Given the description of an element on the screen output the (x, y) to click on. 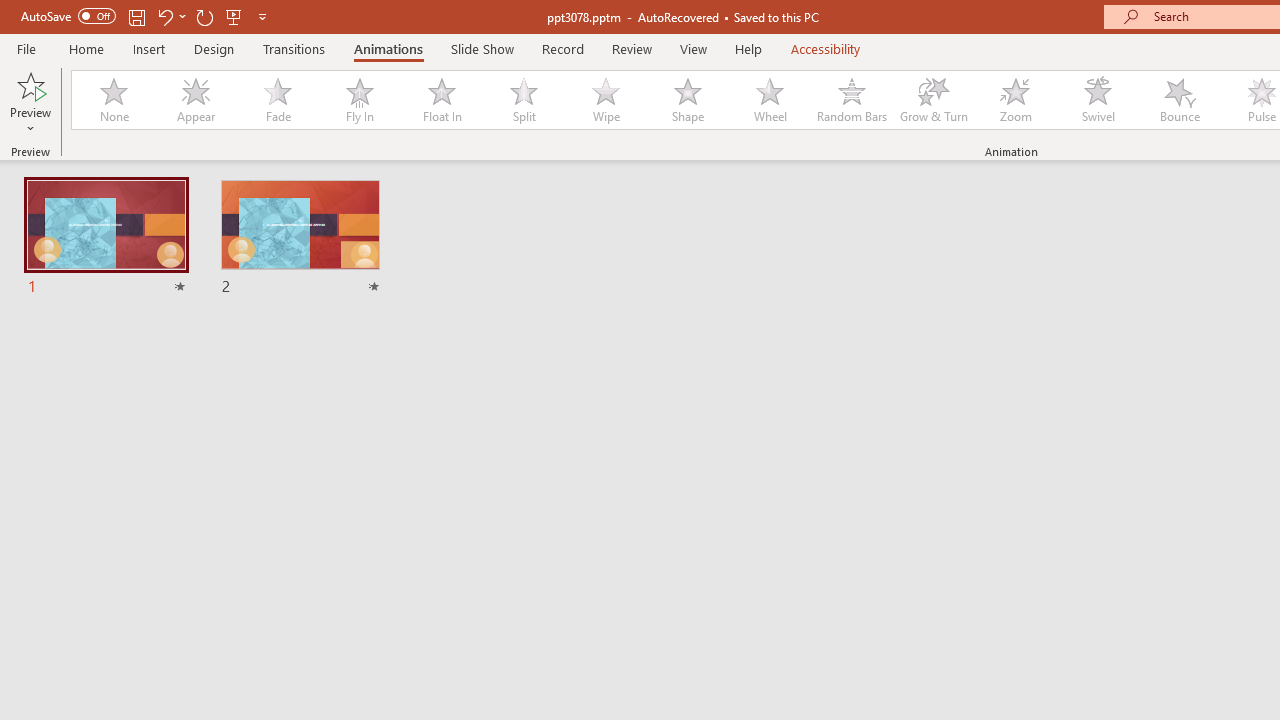
Float In (441, 100)
Shape (687, 100)
Wipe (605, 100)
None (113, 100)
Split (523, 100)
Bounce (1180, 100)
